Given the description of an element on the screen output the (x, y) to click on. 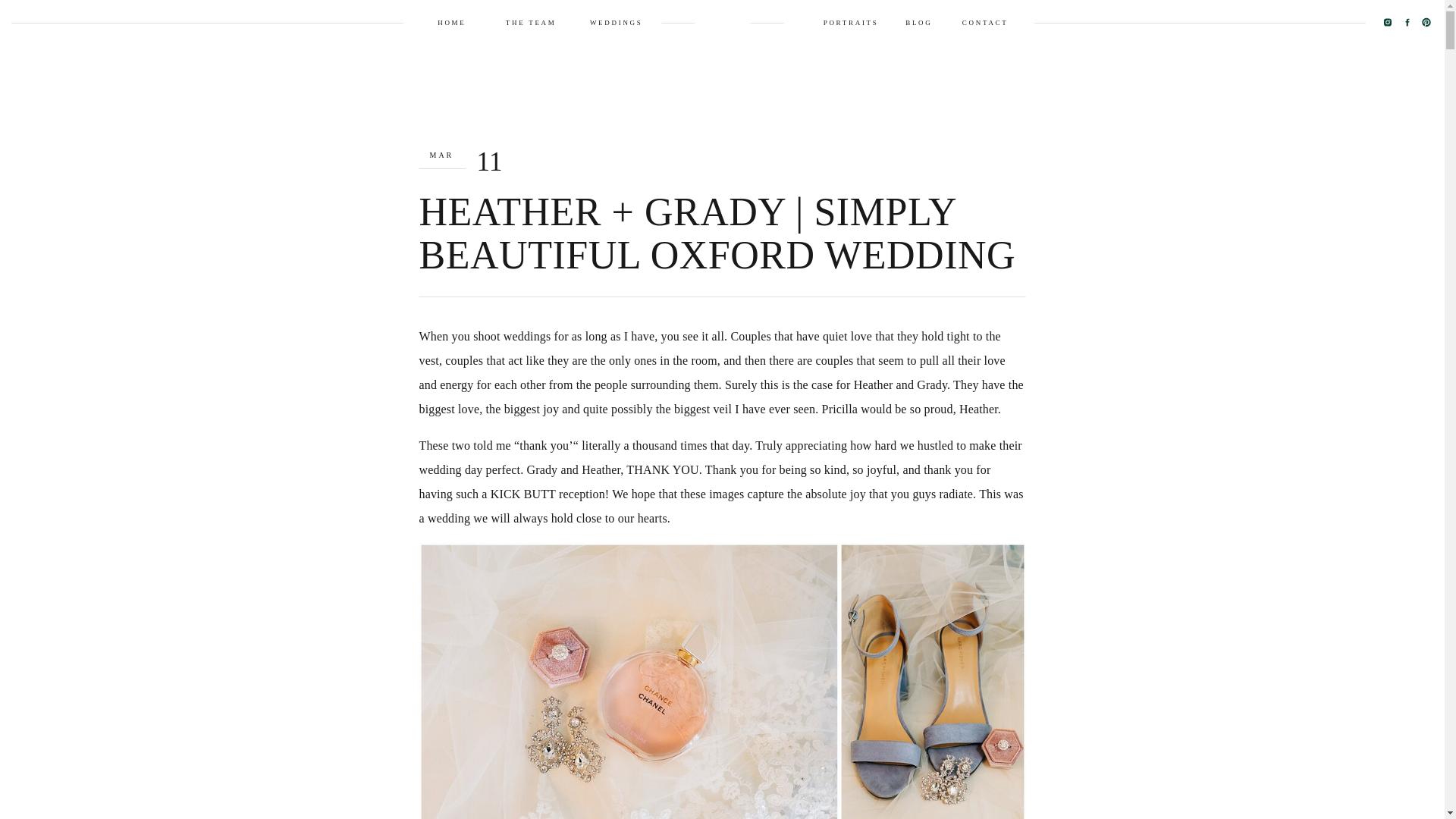
THE TEAM (521, 22)
CONTACT (981, 22)
WEDDINGS (610, 22)
HOME (446, 22)
BLOG (915, 22)
PORTRAITS (844, 22)
